Given the description of an element on the screen output the (x, y) to click on. 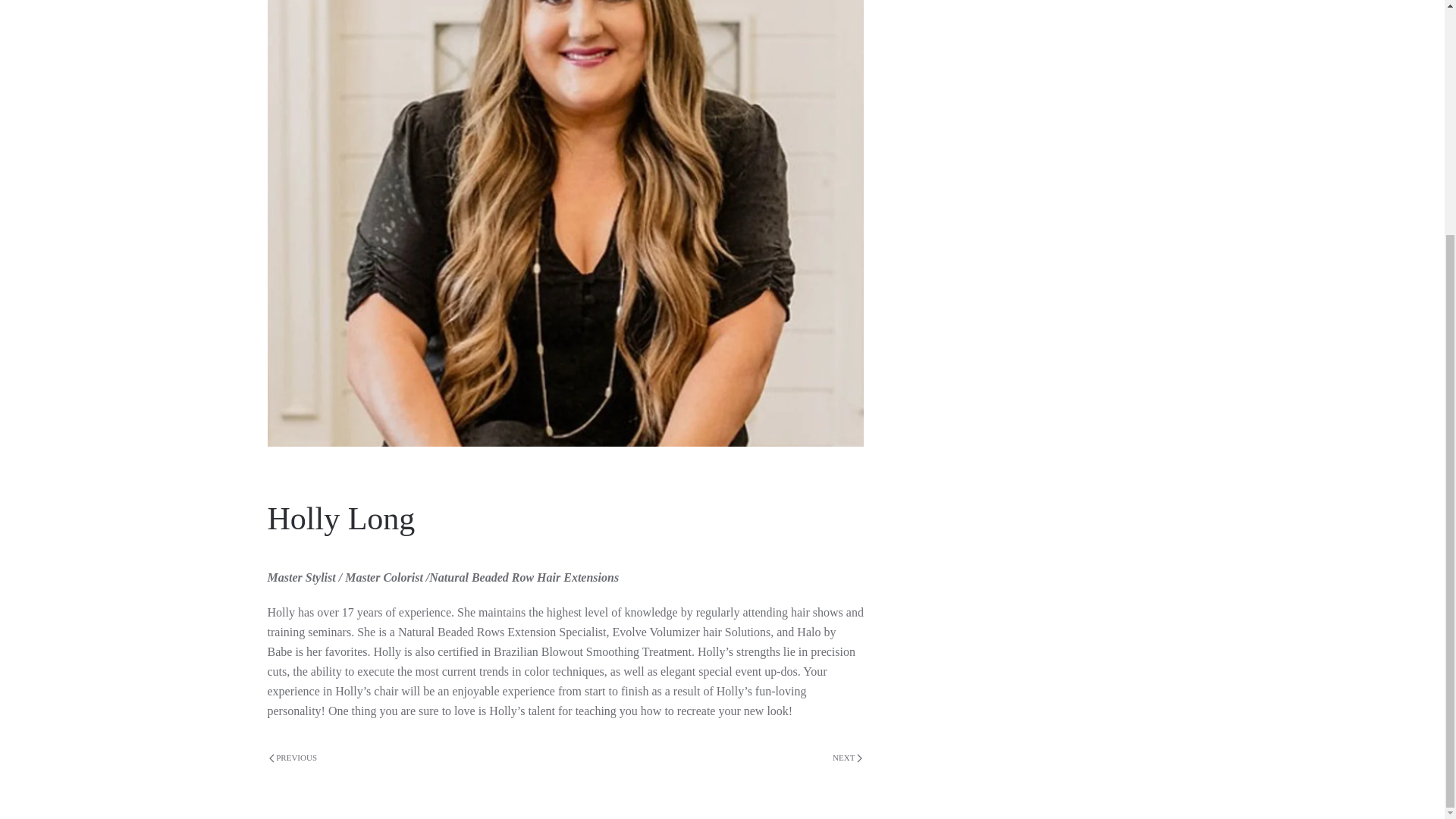
PREVIOUS (292, 758)
NEXT (847, 758)
